Given the description of an element on the screen output the (x, y) to click on. 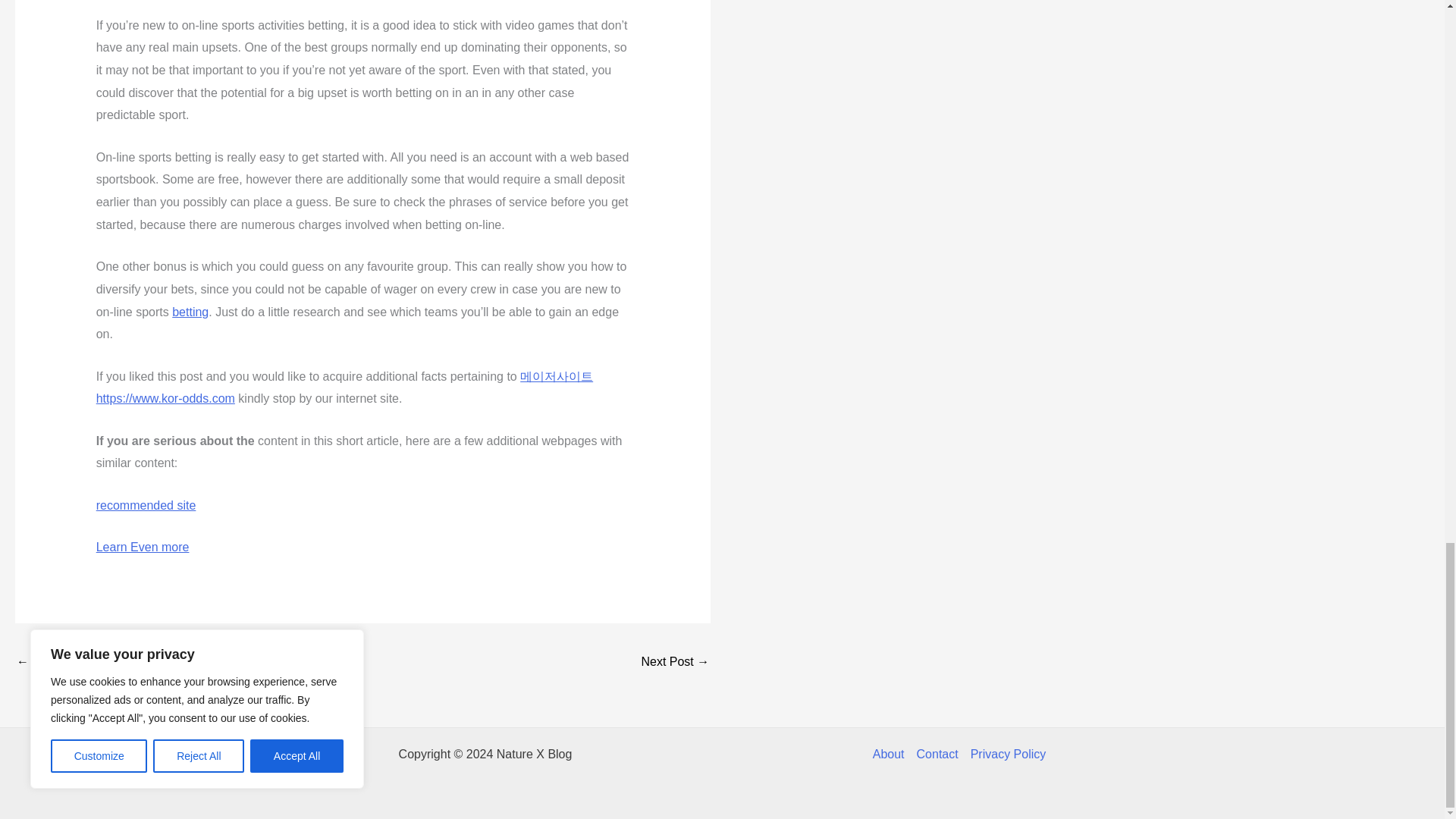
betting (189, 311)
Learn Even more (142, 546)
Important Things About Interlocking Paving Stones (674, 663)
Advantages Of Digital Training (61, 663)
recommended site (146, 504)
